Given the description of an element on the screen output the (x, y) to click on. 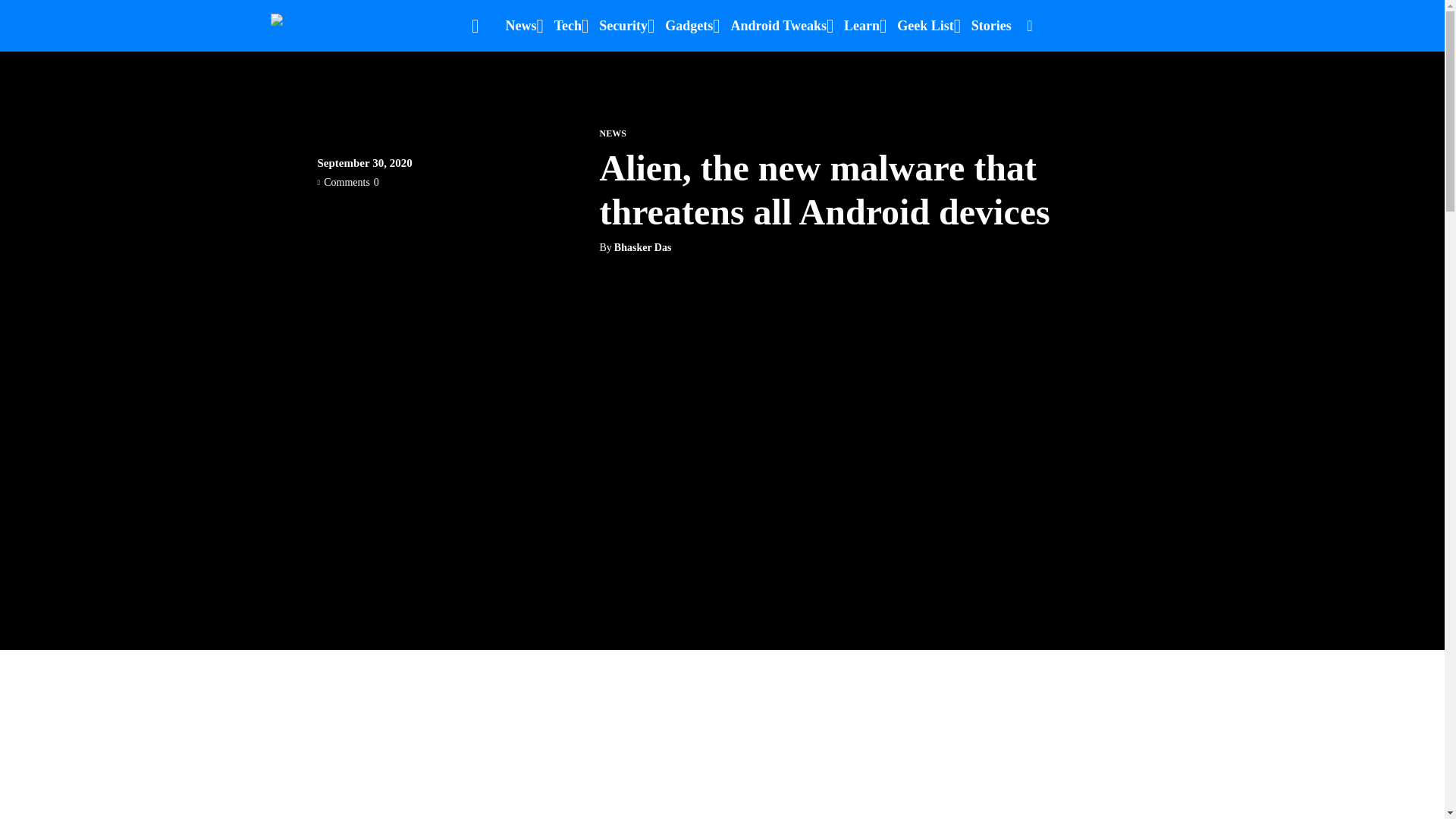
Security (622, 25)
Advertisement (721, 785)
Geek List (924, 25)
News (520, 25)
Tech (567, 25)
Stories (991, 25)
Bhasker Das (642, 247)
Android Tweaks (778, 25)
NEWS (612, 132)
Learn (861, 25)
Gadgets (689, 25)
Comments0 (347, 182)
